Given the description of an element on the screen output the (x, y) to click on. 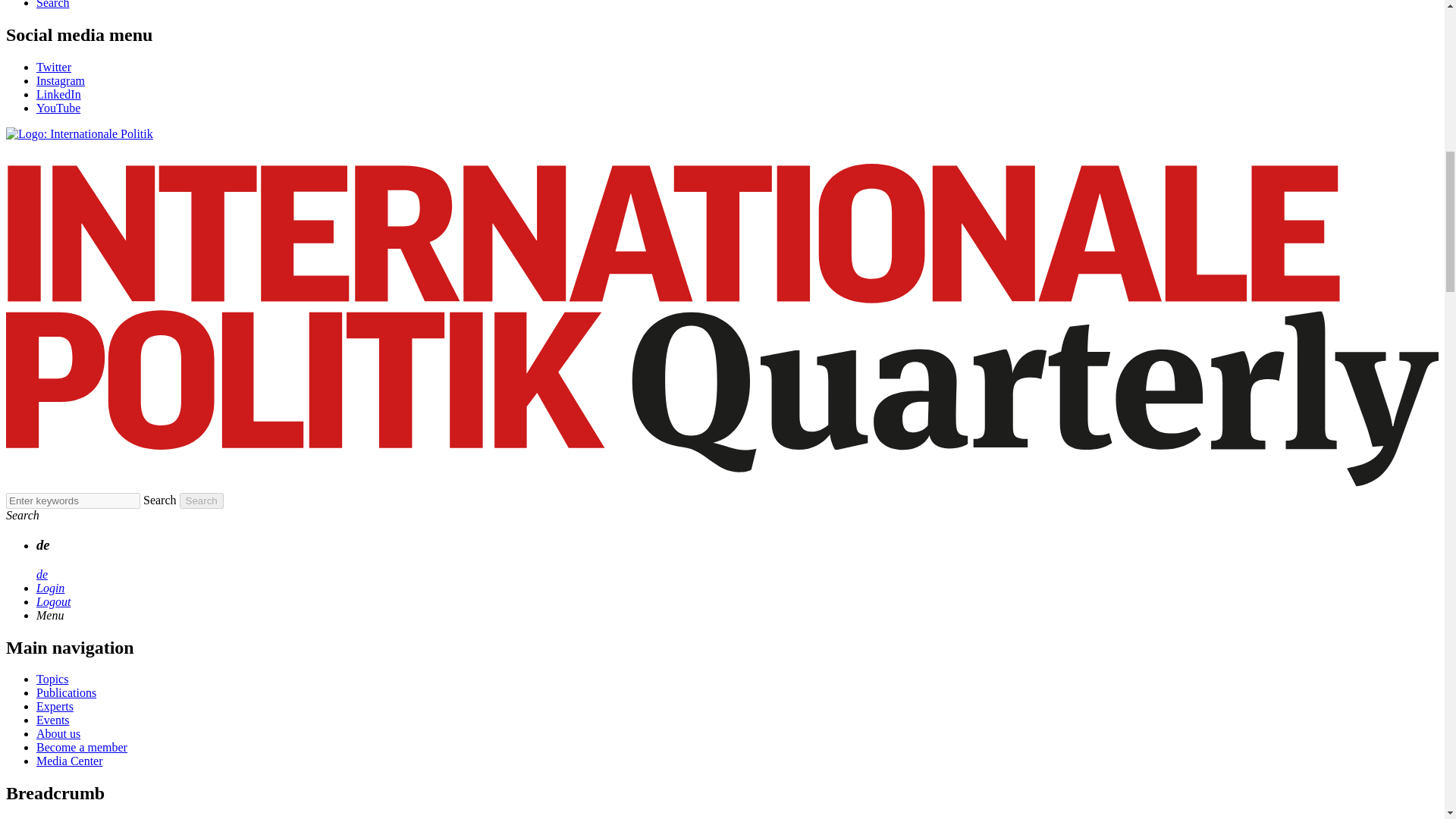
Instagram (60, 80)
Search (52, 4)
Twitter (53, 66)
LinkedIn (58, 93)
LinkedIn (58, 93)
